Given the description of an element on the screen output the (x, y) to click on. 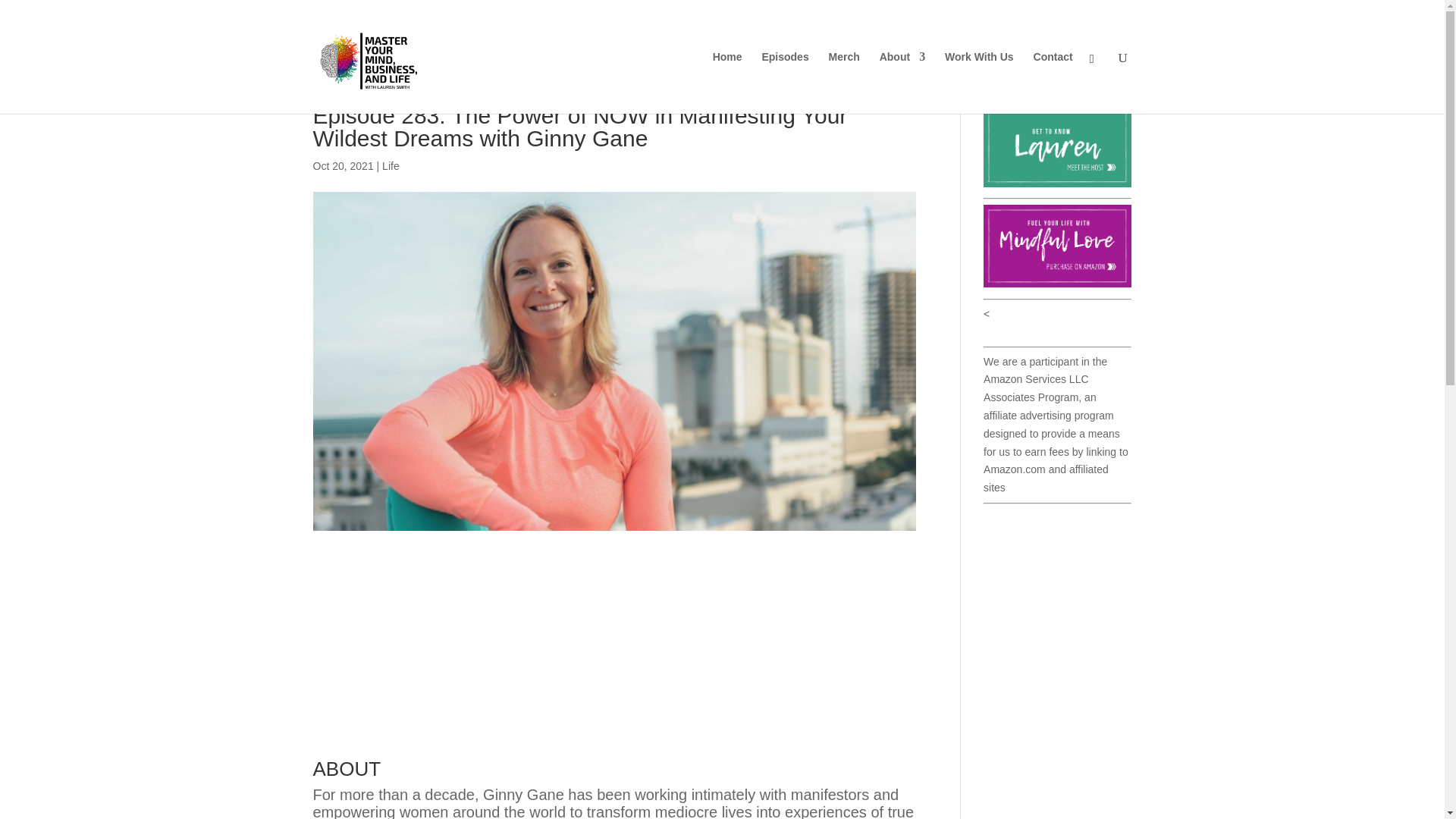
Life (389, 165)
Work With Us (978, 82)
